Given the description of an element on the screen output the (x, y) to click on. 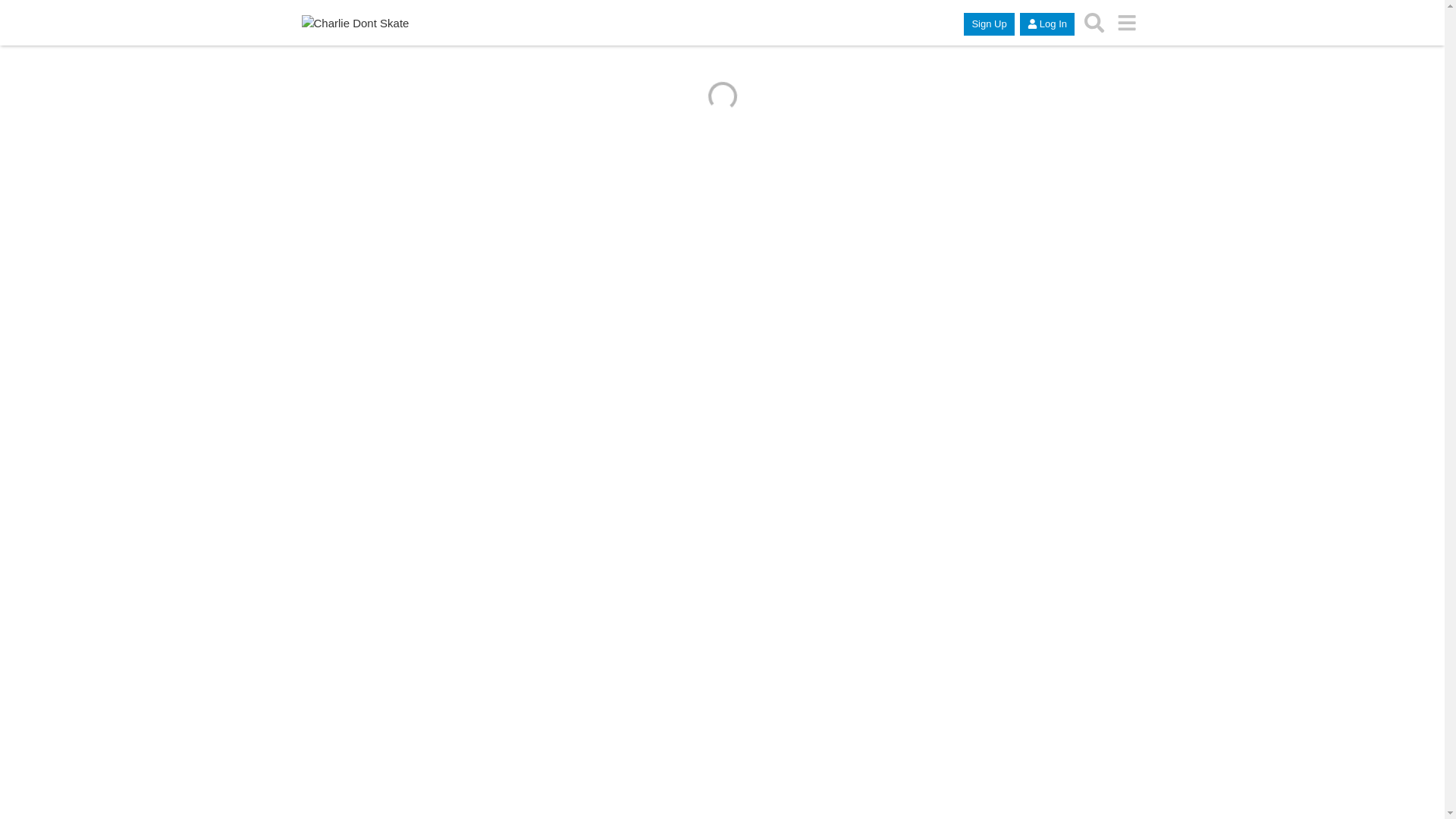
go to another topic list or category Element type: hover (1126, 22)
Log In Element type: text (1046, 23)
Sign Up Element type: text (988, 23)
search topics, posts, users, or categories Element type: hover (1094, 22)
